Given the description of an element on the screen output the (x, y) to click on. 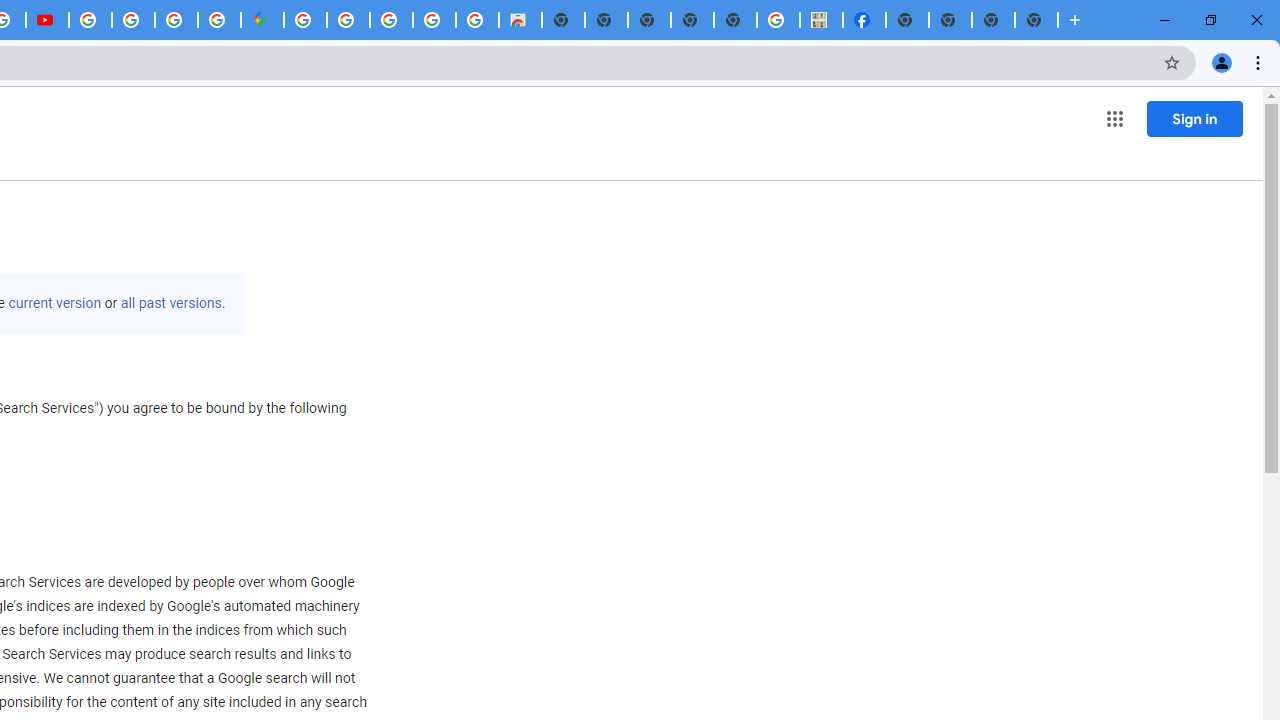
Google Maps (262, 20)
all past versions (170, 303)
New Tab (1036, 20)
Subscriptions - YouTube (47, 20)
Sign in - Google Accounts (305, 20)
